Given the description of an element on the screen output the (x, y) to click on. 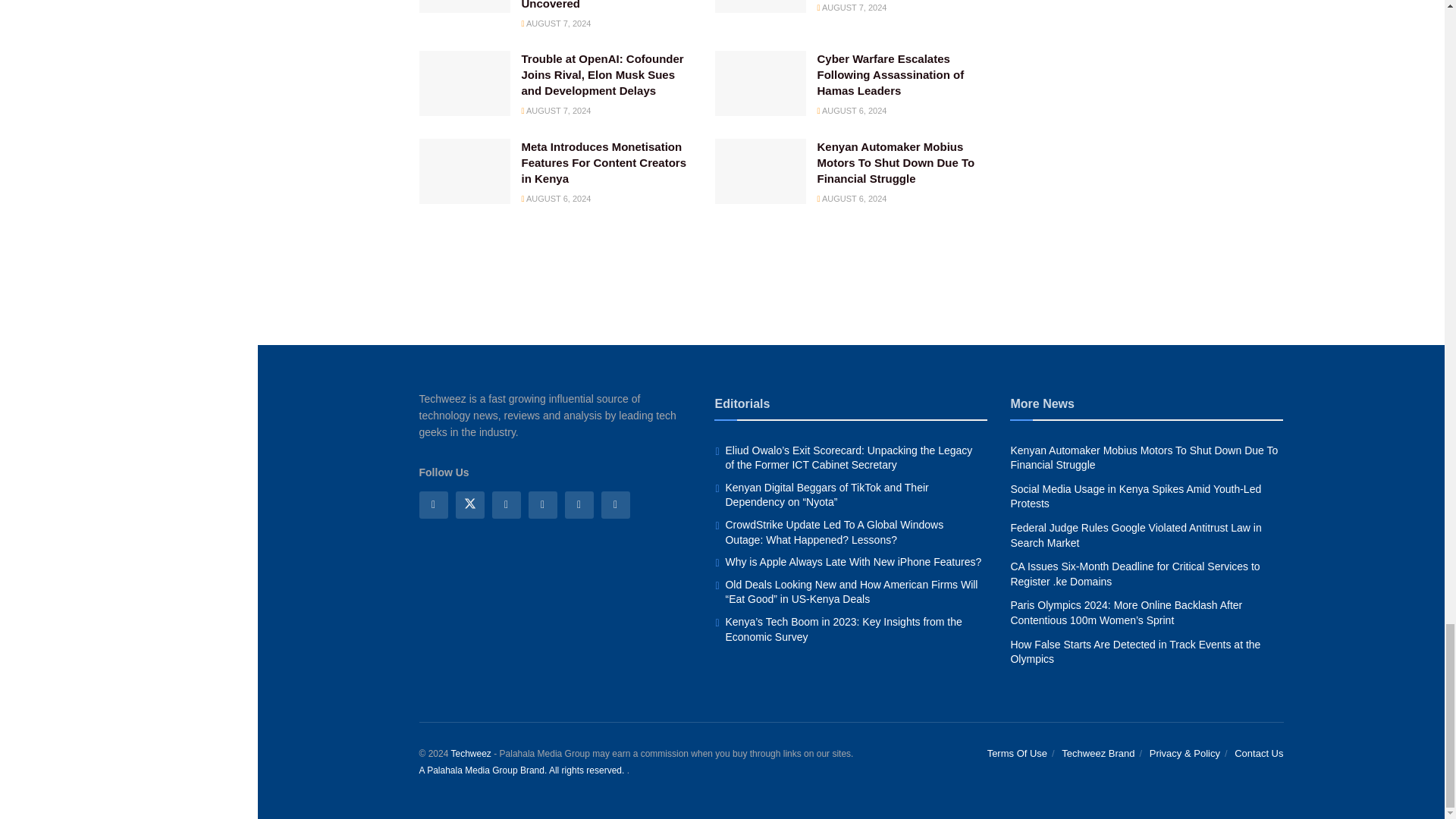
Techweez, a Palahala Media Group Brand. All rights reserved (469, 753)
